Given the description of an element on the screen output the (x, y) to click on. 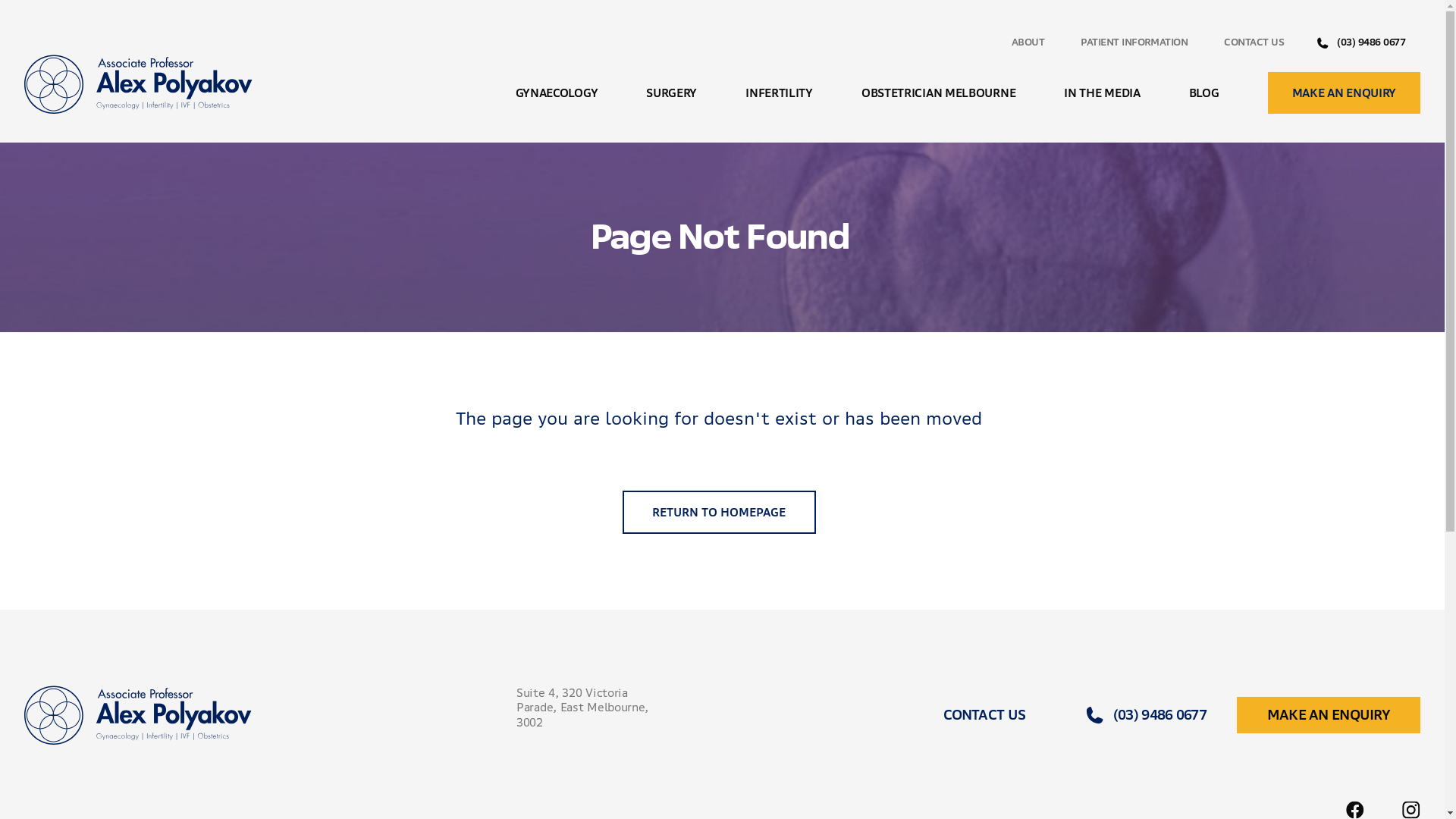
GYNAECOLOGY Element type: text (556, 92)
INFERTILITY Element type: text (779, 92)
OBSTETRICIAN MELBOURNE Element type: text (938, 92)
(03) 9486 0677 Element type: text (1145, 714)
CONTACT US Element type: text (1253, 42)
PATIENT INFORMATION Element type: text (1133, 42)
BLOG Element type: text (1203, 92)
(03) 9486 0677 Element type: text (1361, 42)
IN THE MEDIA Element type: text (1101, 92)
MAKE AN ENQUIRY Element type: text (1328, 714)
CONTACT US Element type: text (984, 714)
RETURN TO HOMEPAGE Element type: text (718, 511)
ABOUT Element type: text (1027, 42)
MAKE AN ENQUIRY Element type: text (1344, 92)
SURGERY Element type: text (671, 92)
